Given the description of an element on the screen output the (x, y) to click on. 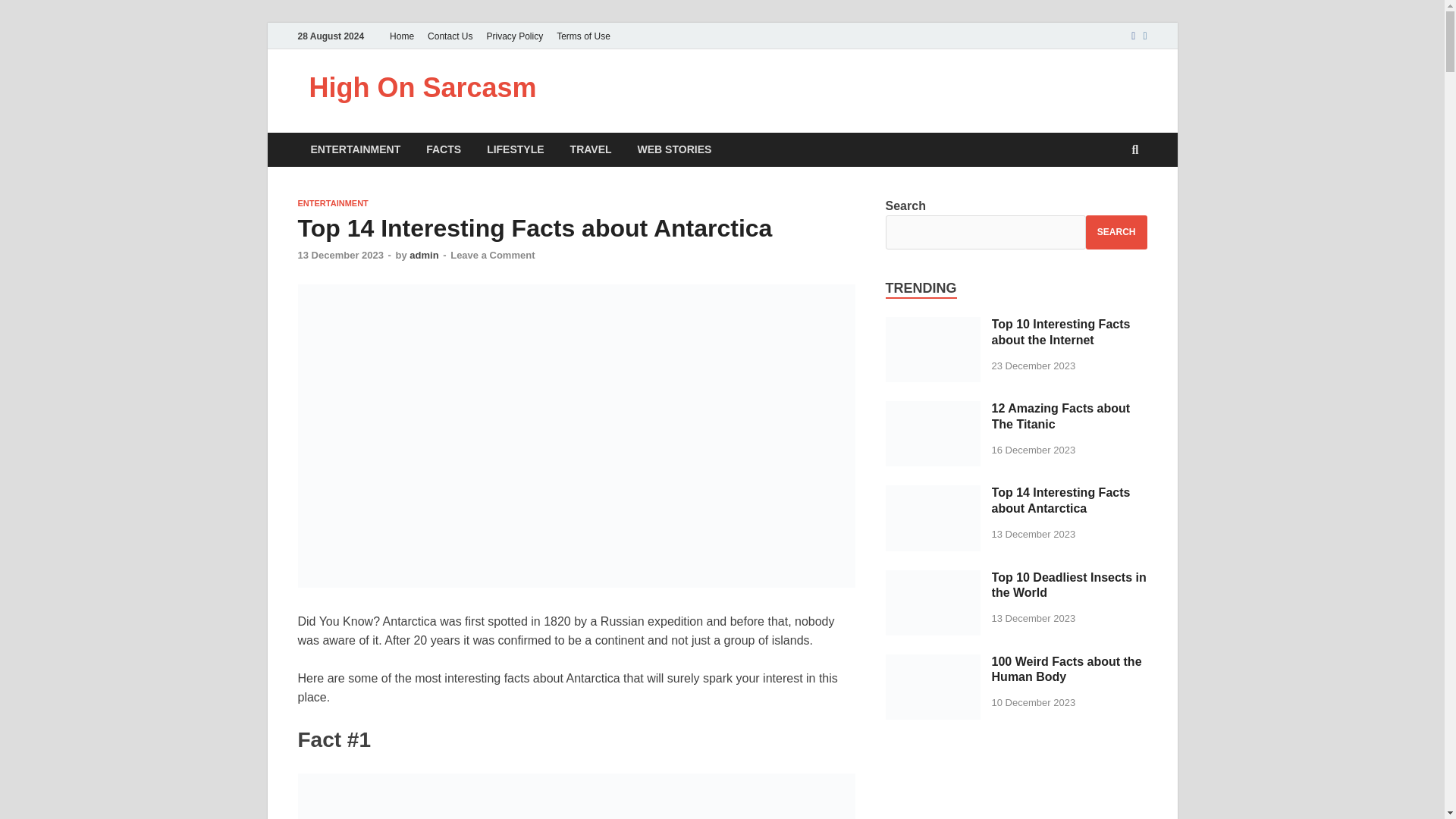
Terms of Use (583, 35)
LIFESTYLE (515, 149)
Privacy Policy (514, 35)
Contact Us (449, 35)
TRAVEL (590, 149)
12 Amazing Facts about The Titanic (932, 409)
WEB STORIES (674, 149)
Top 14 Interesting Facts about Antarctica (932, 493)
FACTS (443, 149)
Home (401, 35)
